Given the description of an element on the screen output the (x, y) to click on. 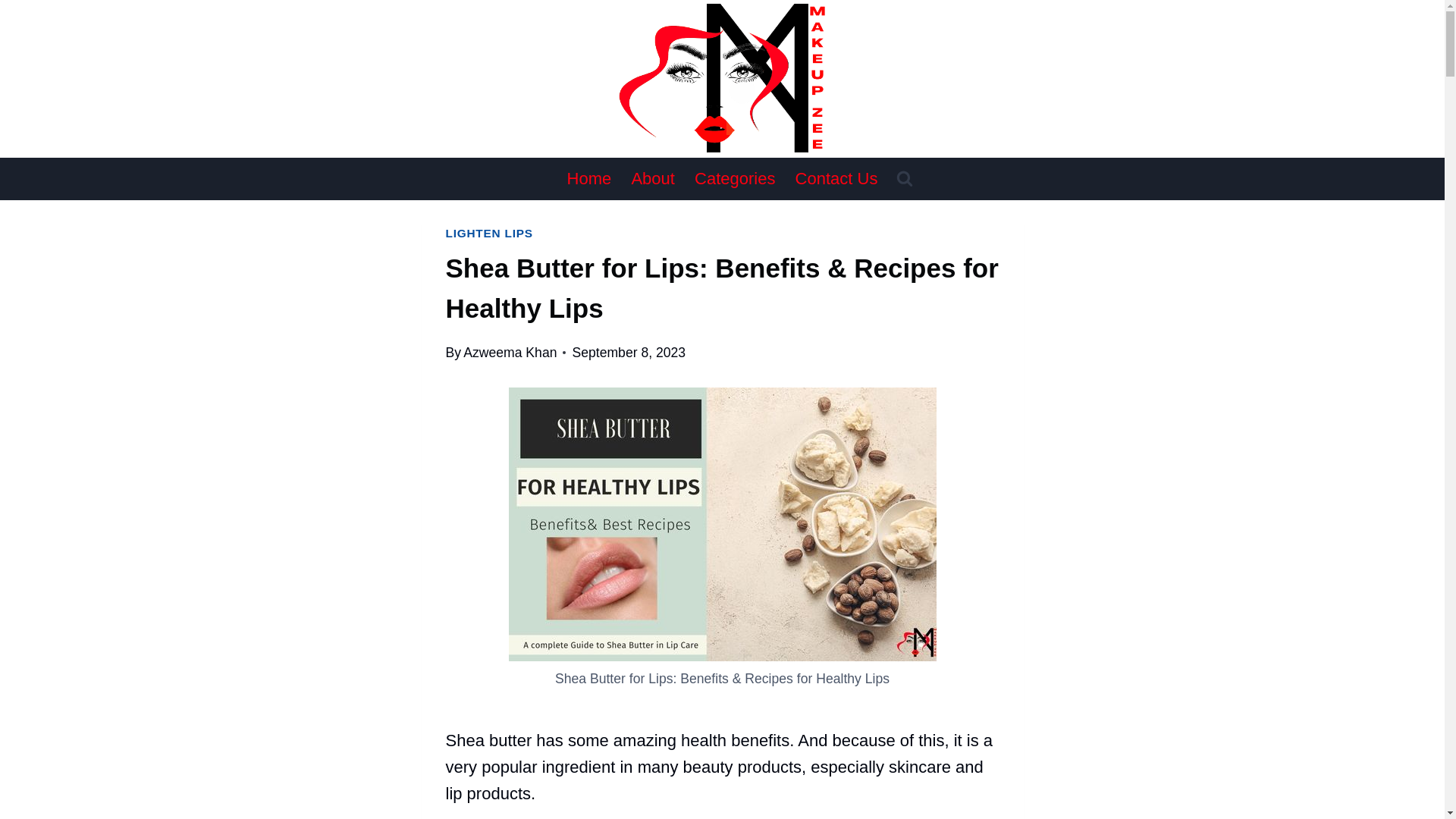
LIGHTEN LIPS (488, 232)
Categories (735, 178)
Contact Us (837, 178)
Azweema Khan (509, 352)
Home (588, 178)
About (652, 178)
